Given the description of an element on the screen output the (x, y) to click on. 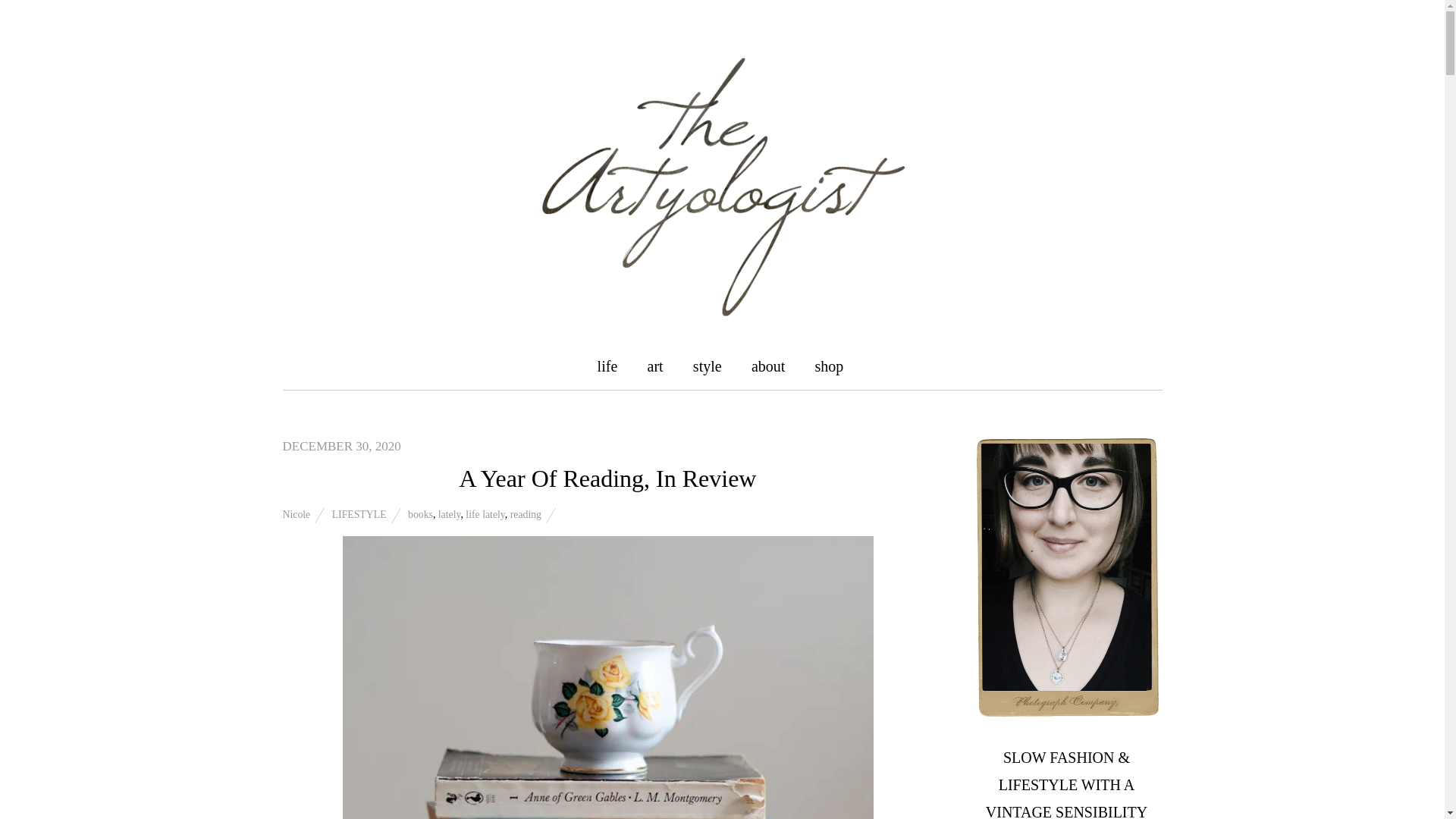
reading (526, 514)
A Year Of Reading, In Review (608, 478)
lately (449, 514)
style (707, 365)
art (655, 365)
A Year of Reading, In Review (608, 478)
life lately (484, 514)
books (419, 514)
life (607, 365)
Nicole (296, 514)
The Artyologist (721, 304)
about (767, 365)
LIFESTYLE (359, 514)
Posts by Nicole (296, 514)
